Given the description of an element on the screen output the (x, y) to click on. 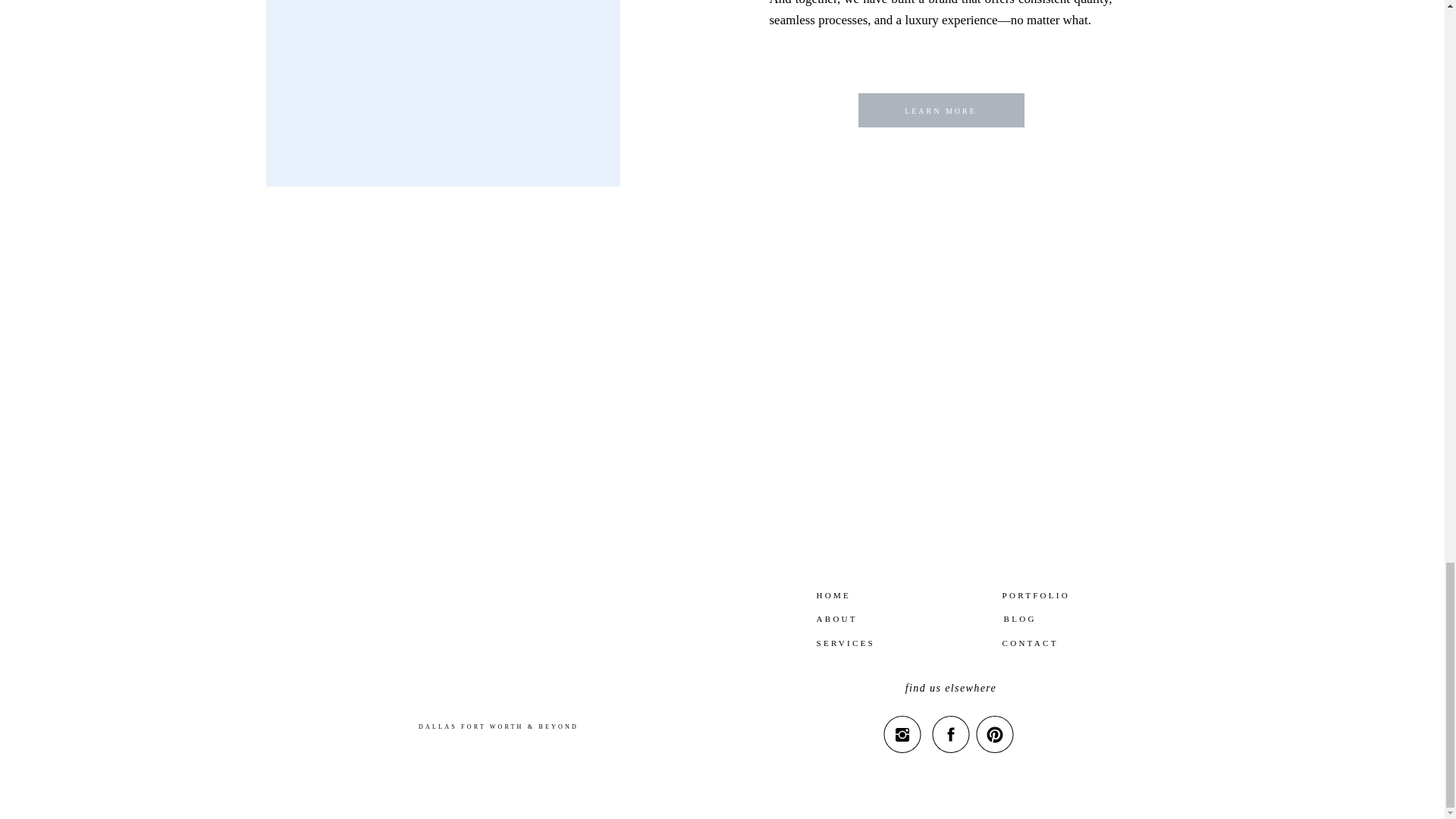
ABOUT (874, 617)
CONTACT (1046, 642)
PORTFOLIO (1062, 594)
SERVICES (853, 642)
LEARN MORE (940, 113)
BLOG (1085, 617)
